Given the description of an element on the screen output the (x, y) to click on. 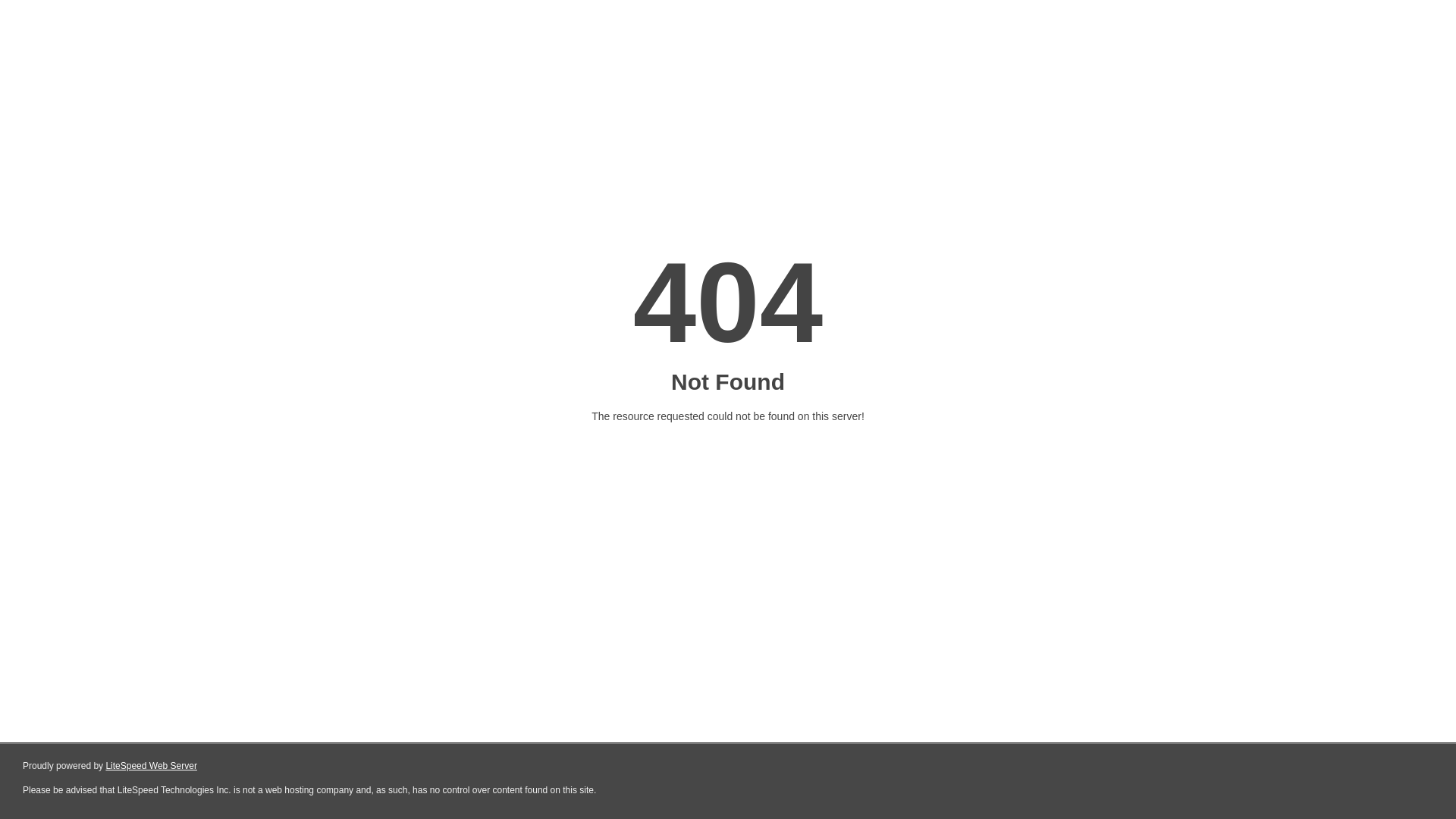
LiteSpeed Web Server Element type: text (151, 765)
